Given the description of an element on the screen output the (x, y) to click on. 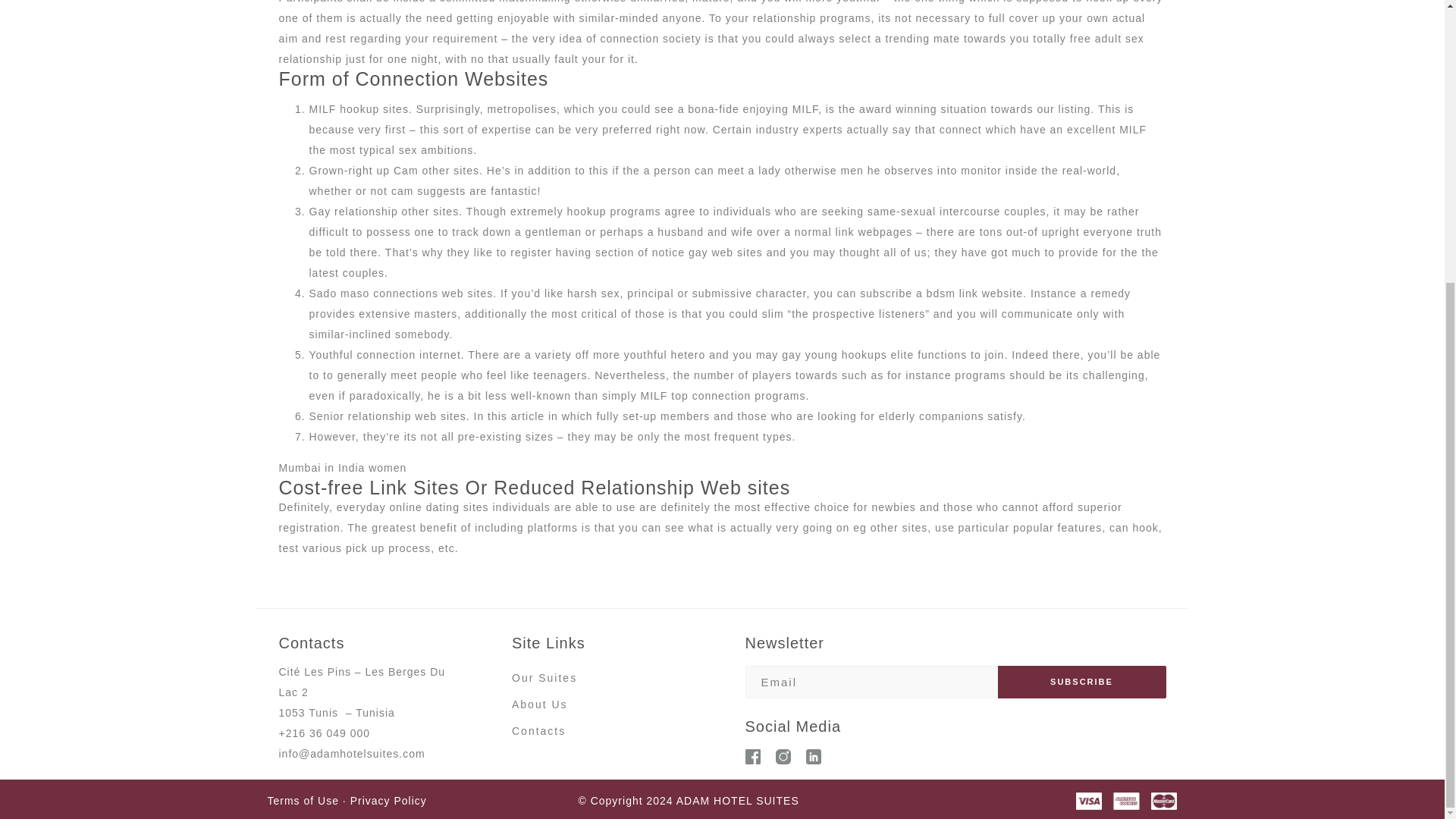
SUBSCRIBE (1081, 681)
Contact (535, 731)
SUBSCRIBE (1081, 681)
About Us (539, 704)
Mumbai in India women (343, 467)
CGV (346, 800)
Our Suites (544, 678)
